Given the description of an element on the screen output the (x, y) to click on. 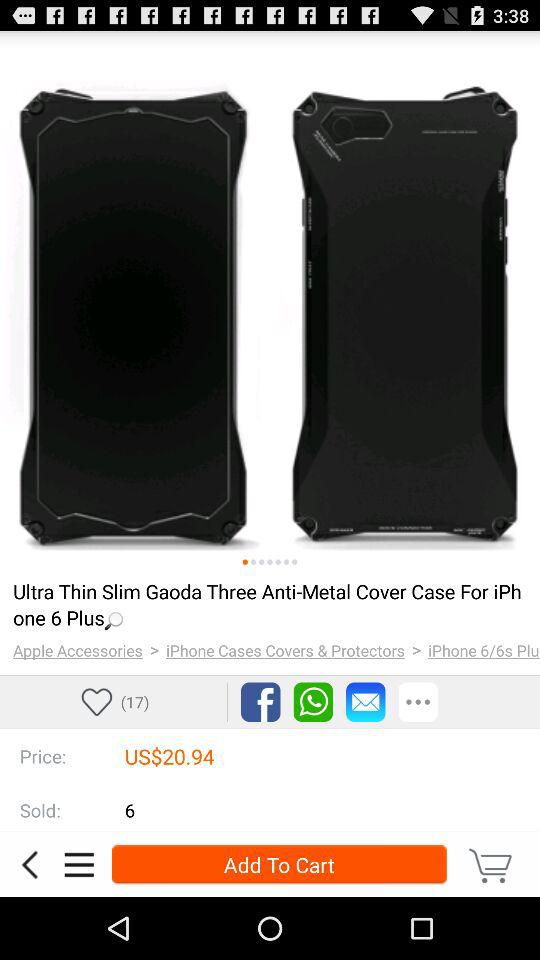
choose icon above the loading... (277, 561)
